Given the description of an element on the screen output the (x, y) to click on. 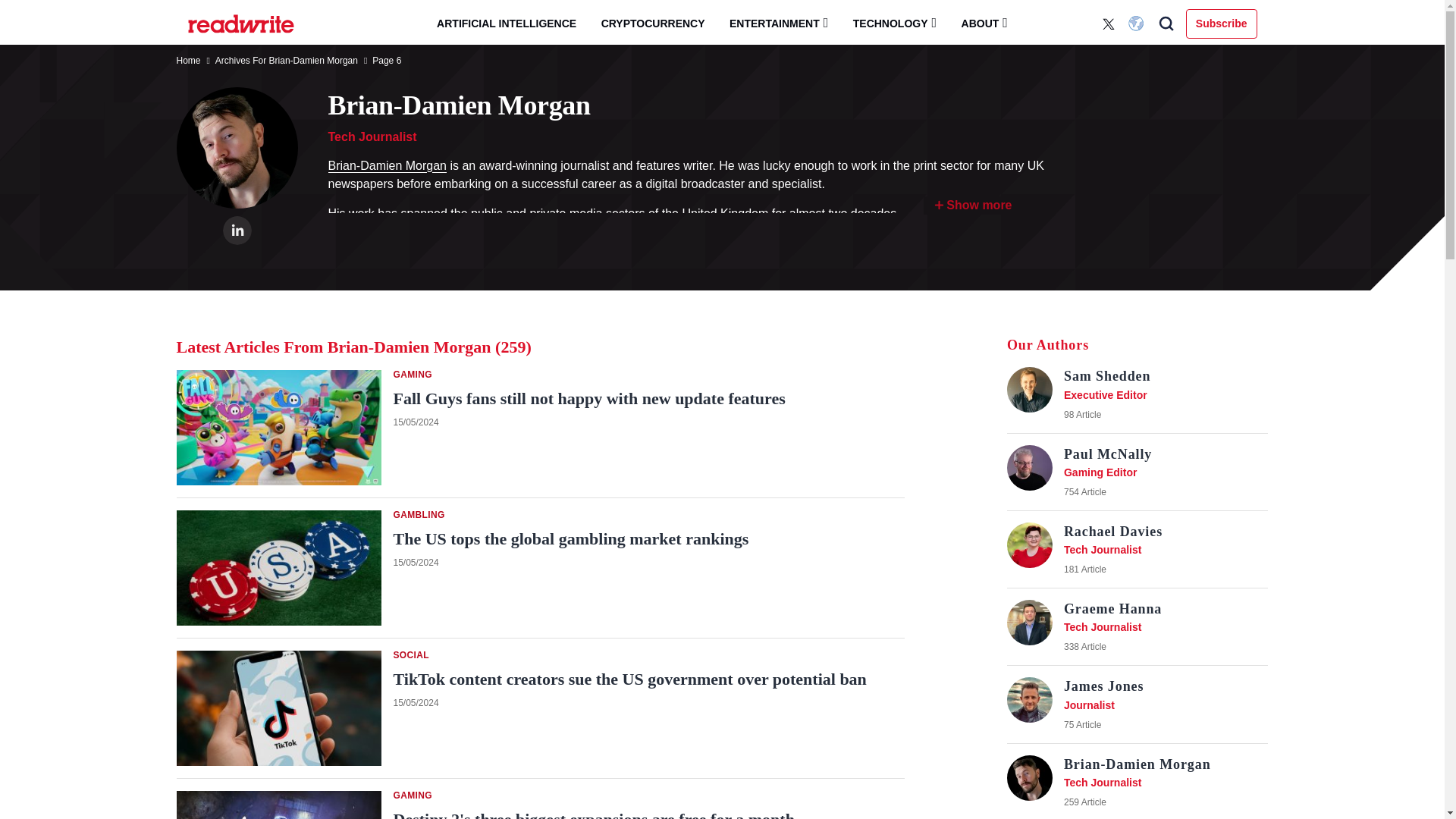
ABOUT (983, 23)
ARTIFICIAL INTELLIGENCE (506, 23)
English (1137, 23)
CRYPTOCURRENCY (653, 23)
TECHNOLOGY (895, 23)
Home (188, 60)
ENTERTAINMENT (778, 23)
Subscribe (1221, 23)
